Given the description of an element on the screen output the (x, y) to click on. 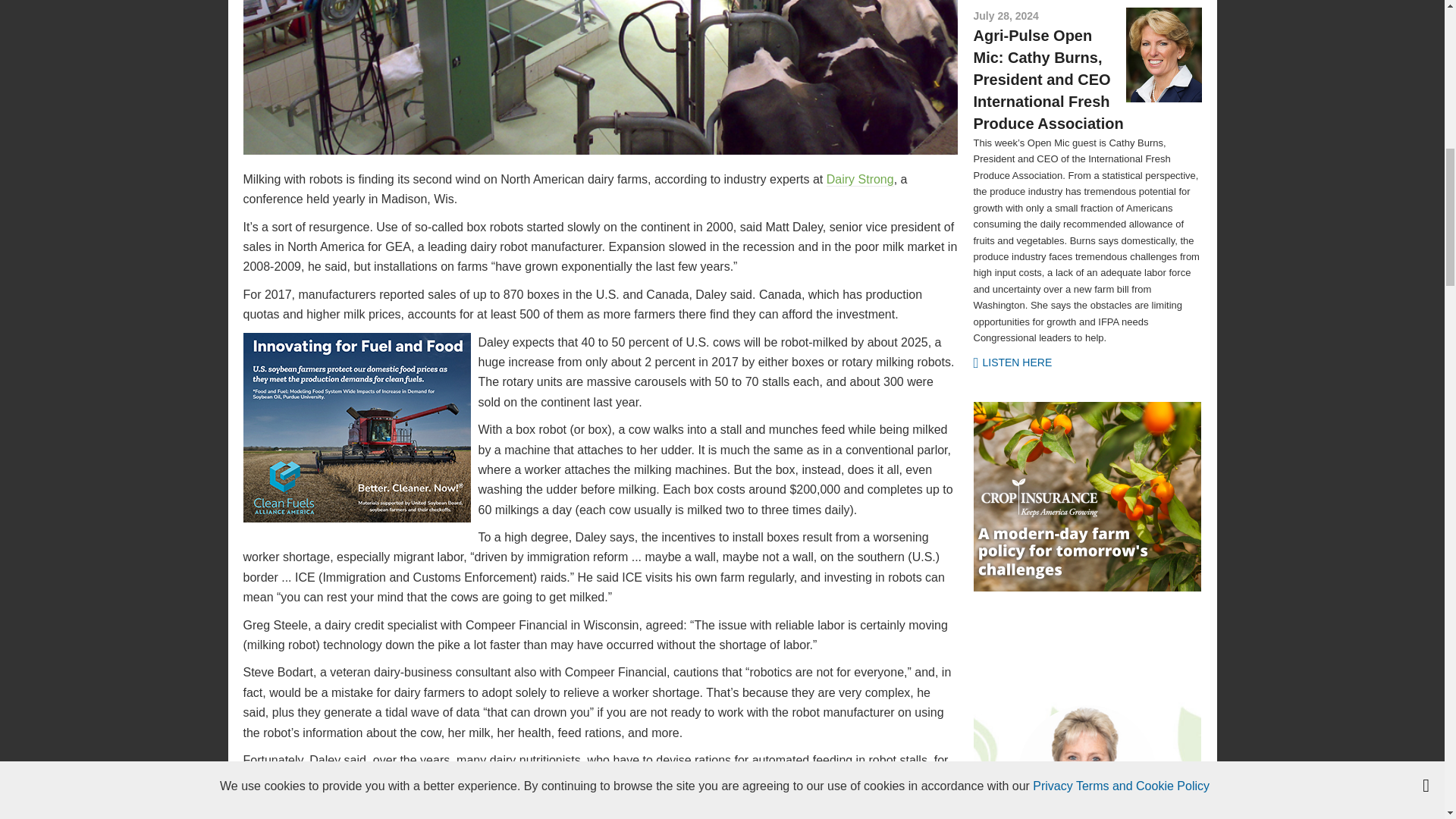
3rd party ad content (1087, 496)
3rd party ad content (356, 427)
